Given the description of an element on the screen output the (x, y) to click on. 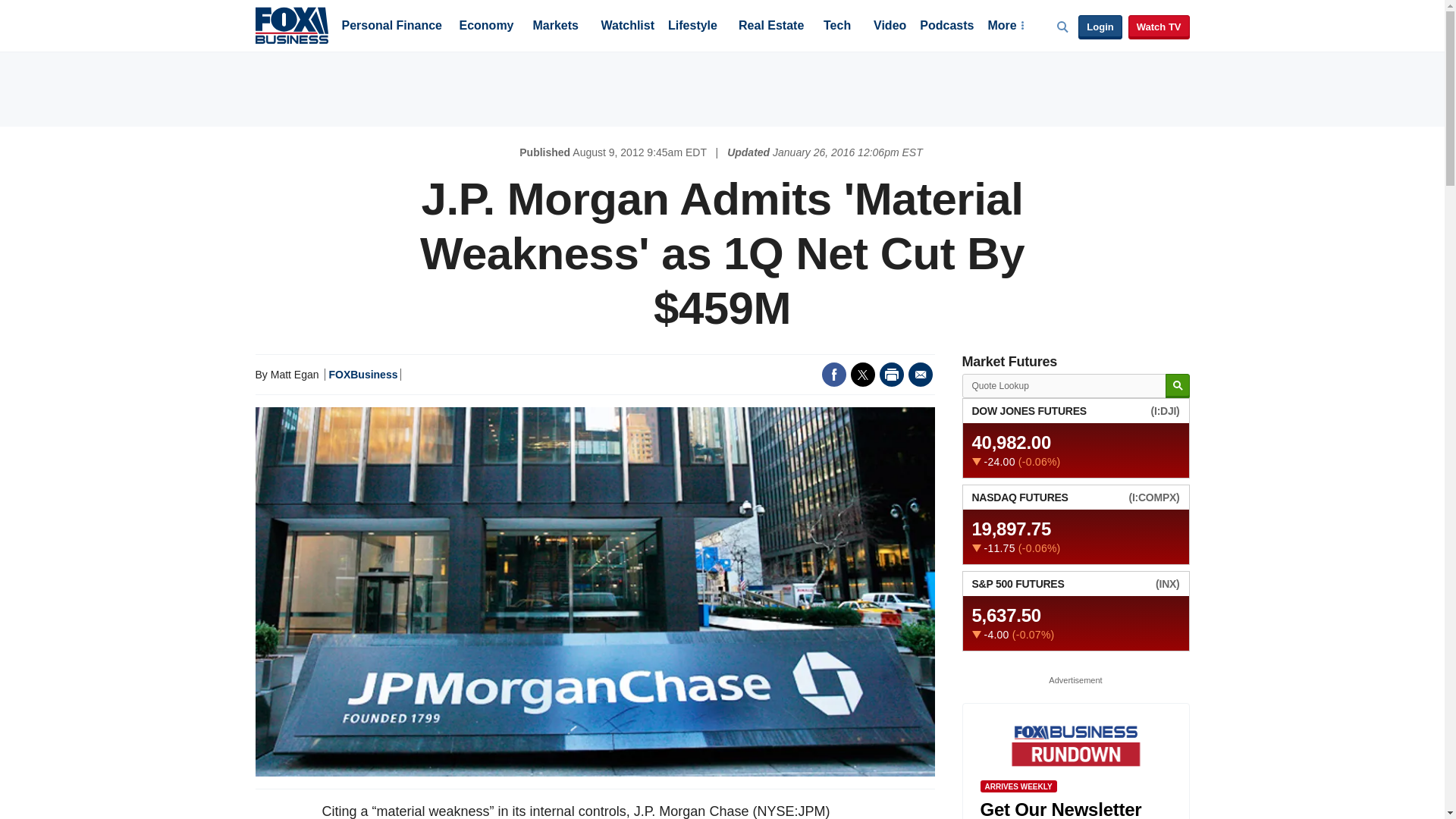
Fox Business (290, 24)
Economy (486, 27)
Search (1176, 385)
Watch TV (1158, 27)
Video (889, 27)
More (1005, 27)
Personal Finance (391, 27)
Search (1176, 385)
Real Estate (770, 27)
Lifestyle (692, 27)
